Given the description of an element on the screen output the (x, y) to click on. 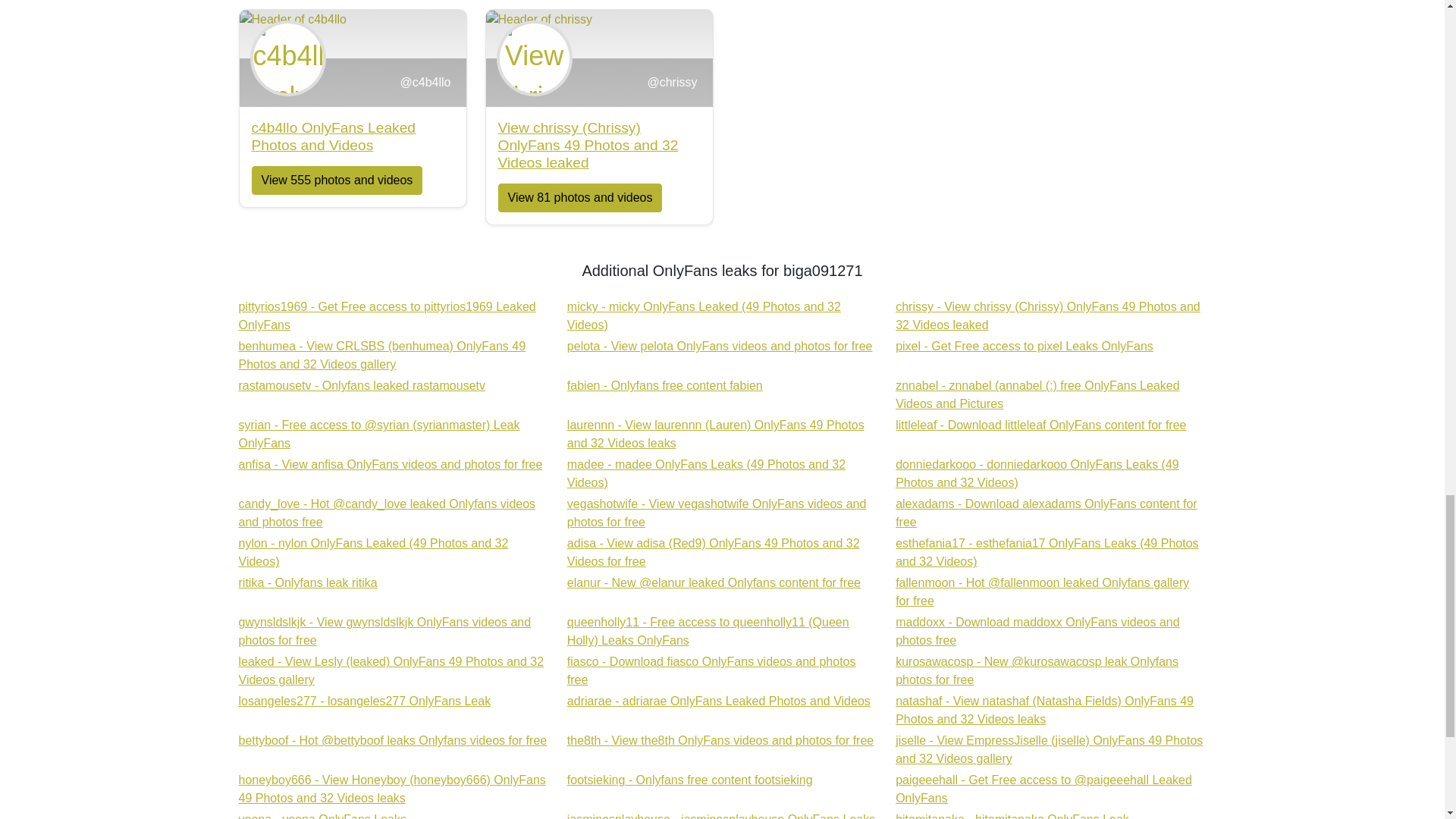
pelota - View pelota OnlyFans videos and photos for free (719, 345)
rastamousetv - Onlyfans leaked rastamousetv (386, 315)
pixel - Get Free access to pixel Leaks OnlyFans (389, 463)
